Given the description of an element on the screen output the (x, y) to click on. 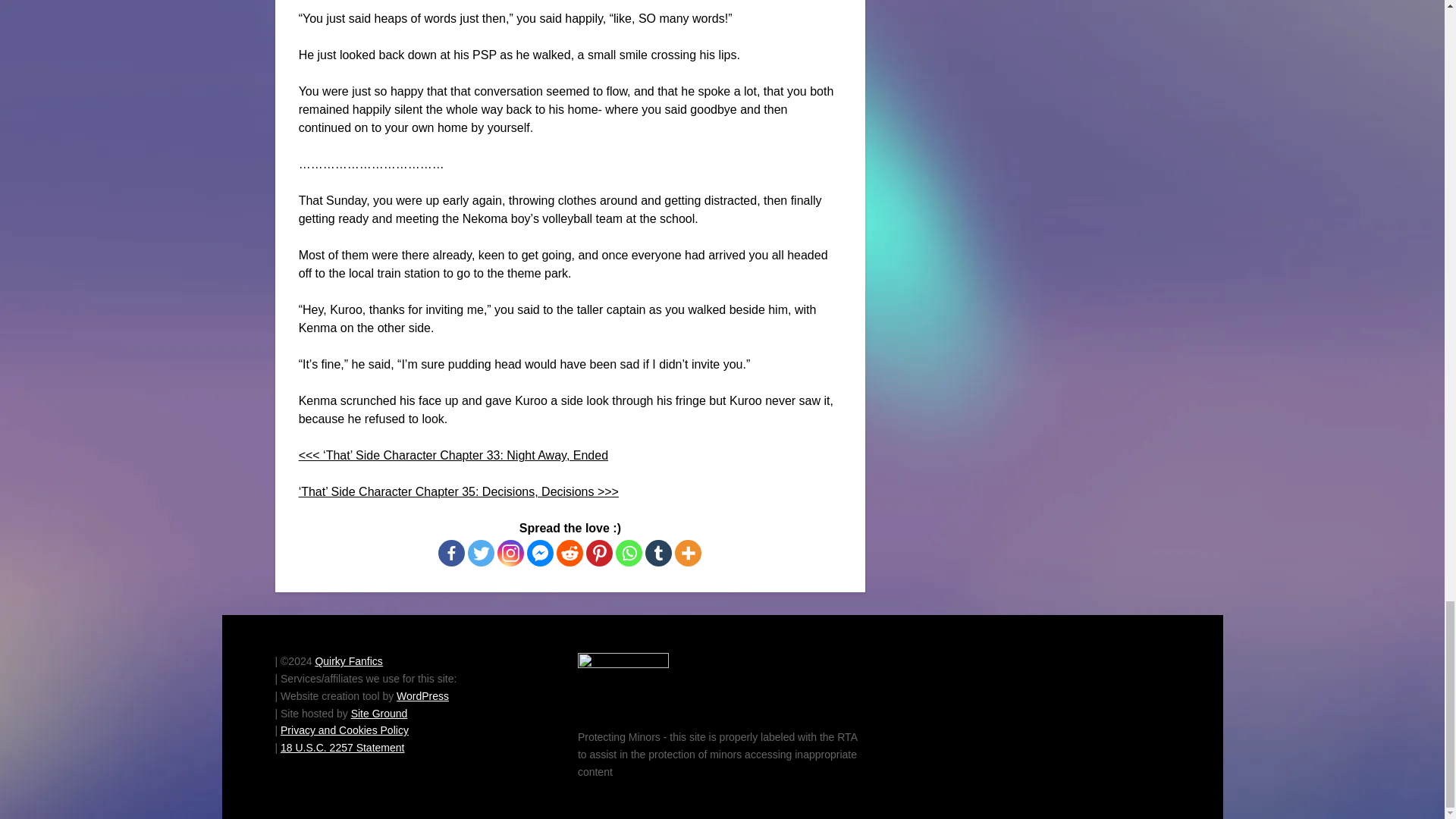
Instagram (510, 552)
Quirky Fanfics (347, 661)
More (688, 552)
Twitter (481, 552)
Pinterest (599, 552)
Facebook (451, 552)
Site Ground (378, 713)
18 U.S.C. 2257 Statement (342, 747)
Whatsapp (628, 552)
Reddit (569, 552)
